Given the description of an element on the screen output the (x, y) to click on. 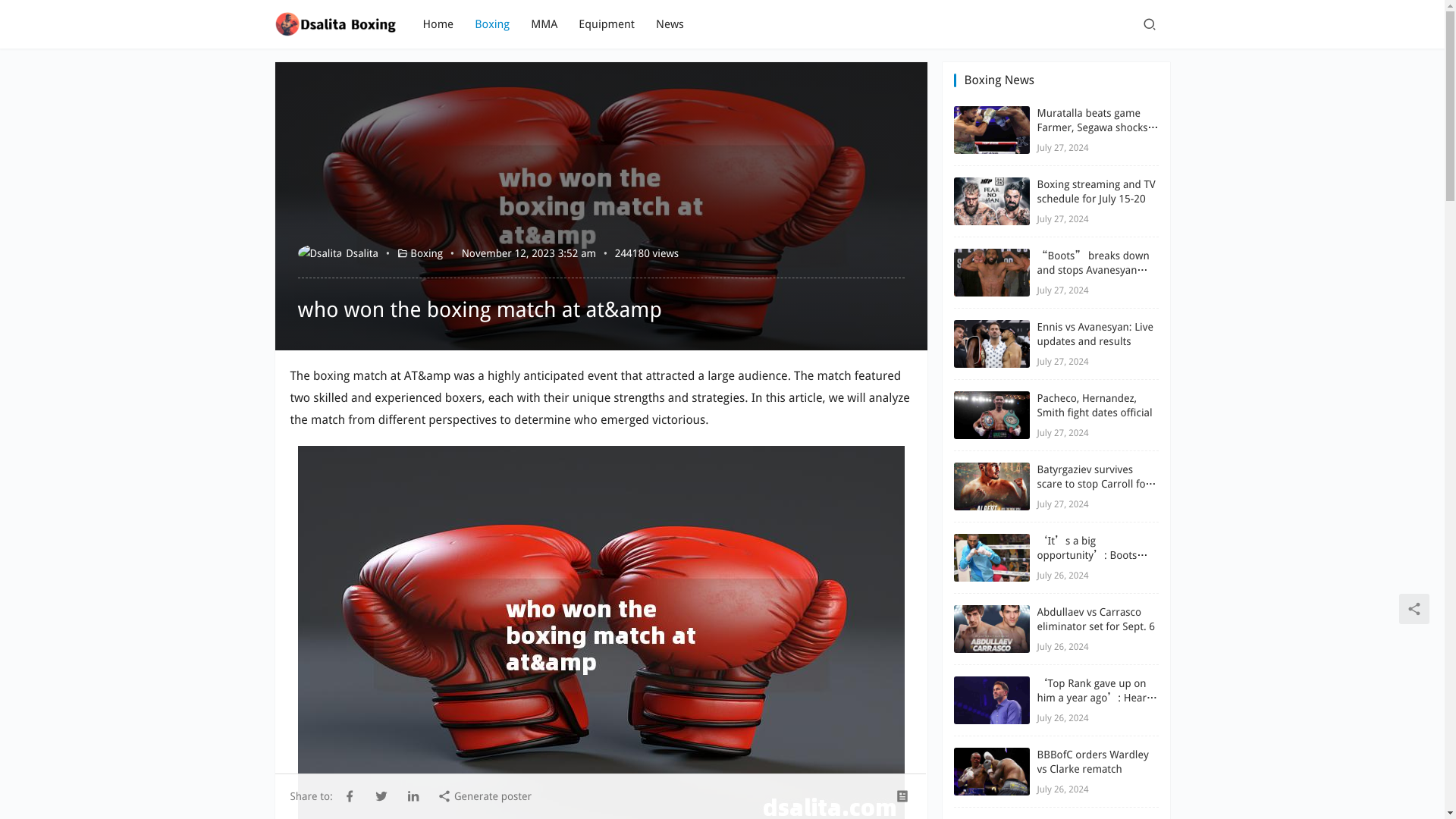
Equipment (606, 24)
Dsalita (337, 253)
Boxing (426, 253)
Generate poster (483, 795)
